Given the description of an element on the screen output the (x, y) to click on. 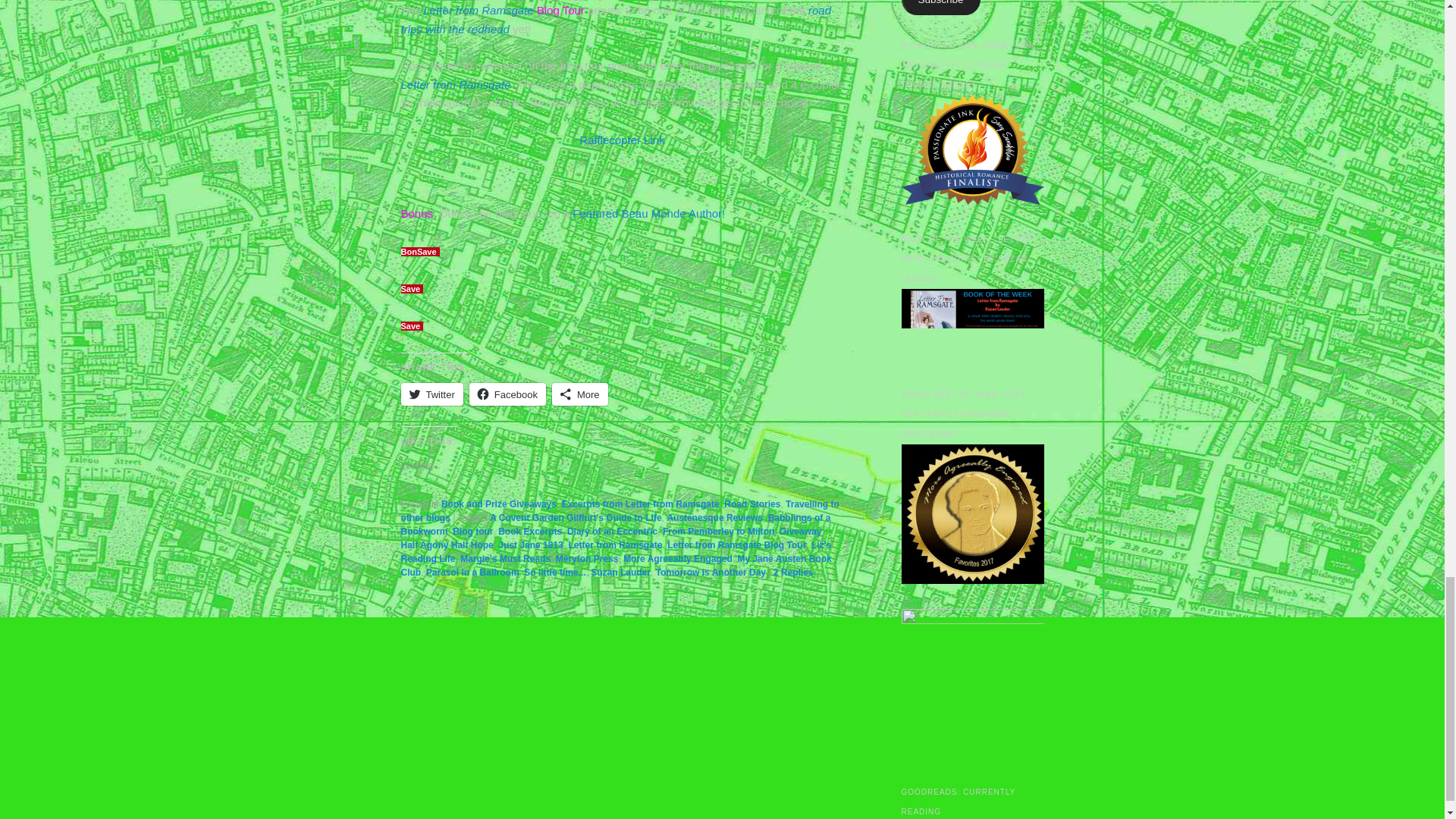
Letter from Ramsgate (455, 83)
Click to share on Facebook (507, 394)
road trips with the redhead (615, 19)
Click to share on Twitter (431, 394)
Letter from Ramsgate (478, 10)
